Given the description of an element on the screen output the (x, y) to click on. 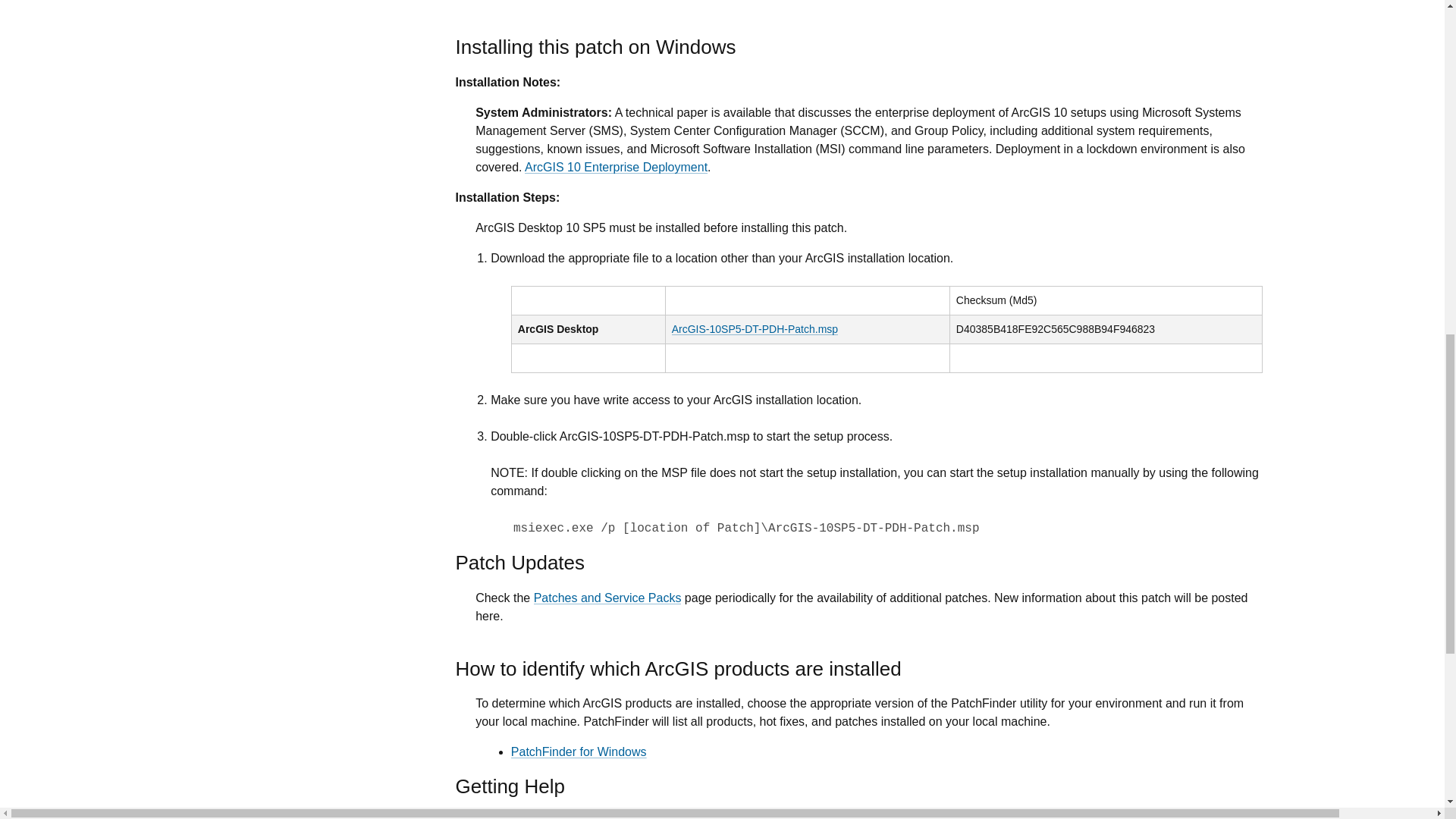
ArcGIS-10SP5-DT-PDH-Patch.msp (754, 328)
Patches and Service Packs (607, 597)
PatchFinder for Windows (578, 751)
ArcGIS 10 Enterprise Deployment (615, 166)
